Given the description of an element on the screen output the (x, y) to click on. 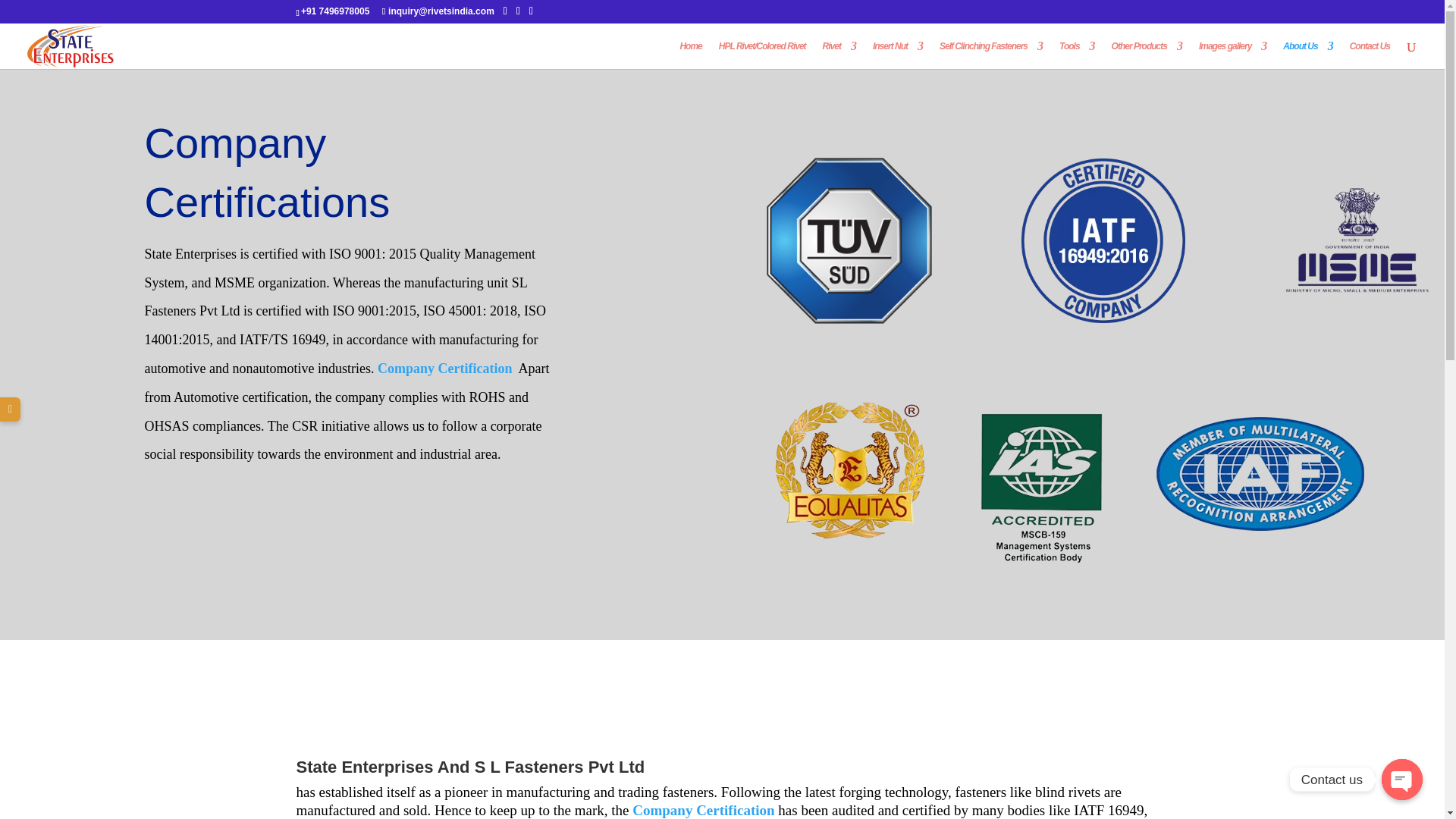
Tools (1076, 54)
Insert Nut (897, 54)
Rivet (839, 54)
Self Clinching Fasteners (990, 54)
logo-IATF (1103, 240)
